Given the description of an element on the screen output the (x, y) to click on. 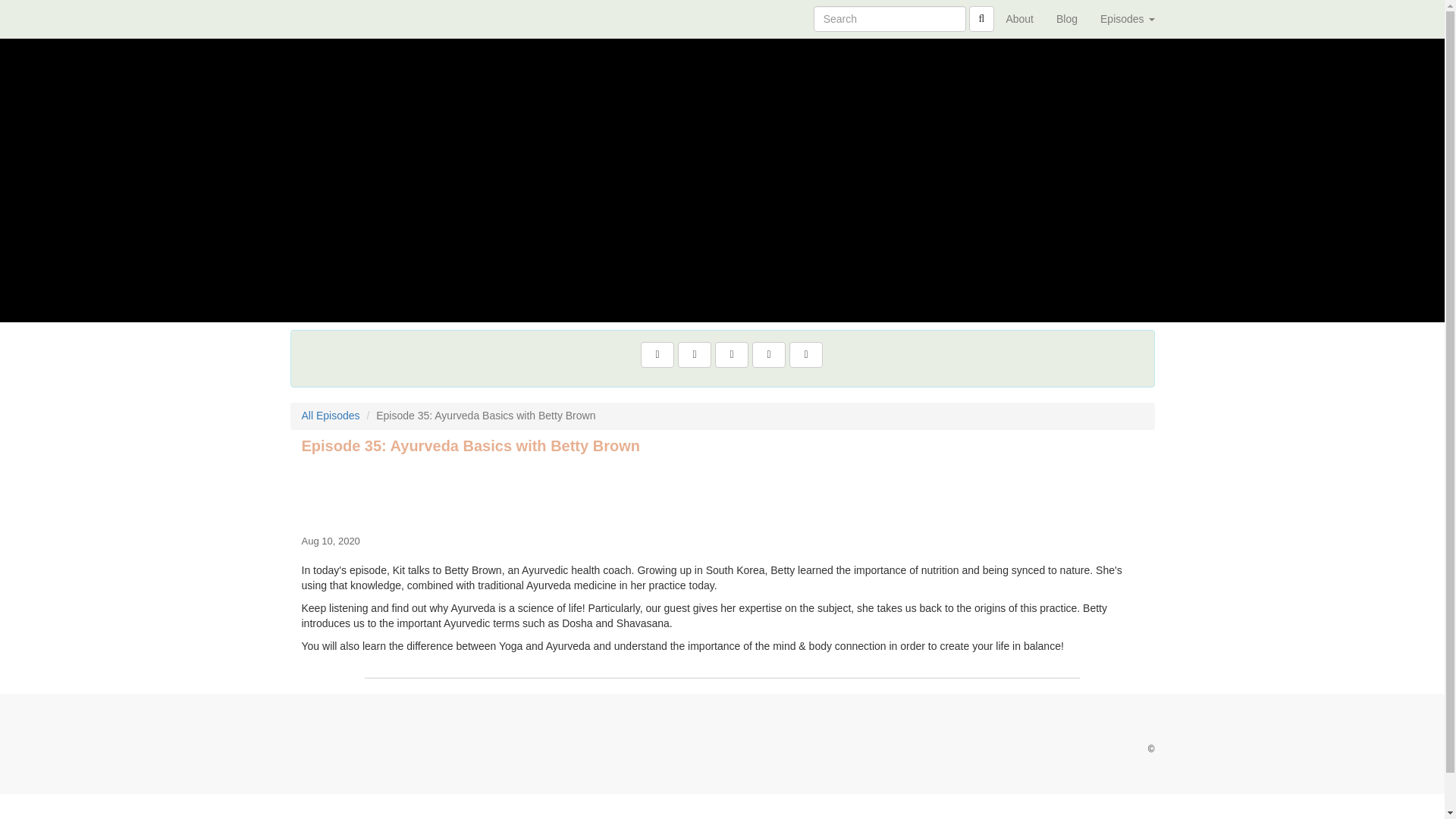
About (1019, 18)
Episodes (1127, 18)
Episode 35: Ayurveda Basics with Betty Brown (721, 491)
Home Page (320, 18)
Blog (1067, 18)
